Given the description of an element on the screen output the (x, y) to click on. 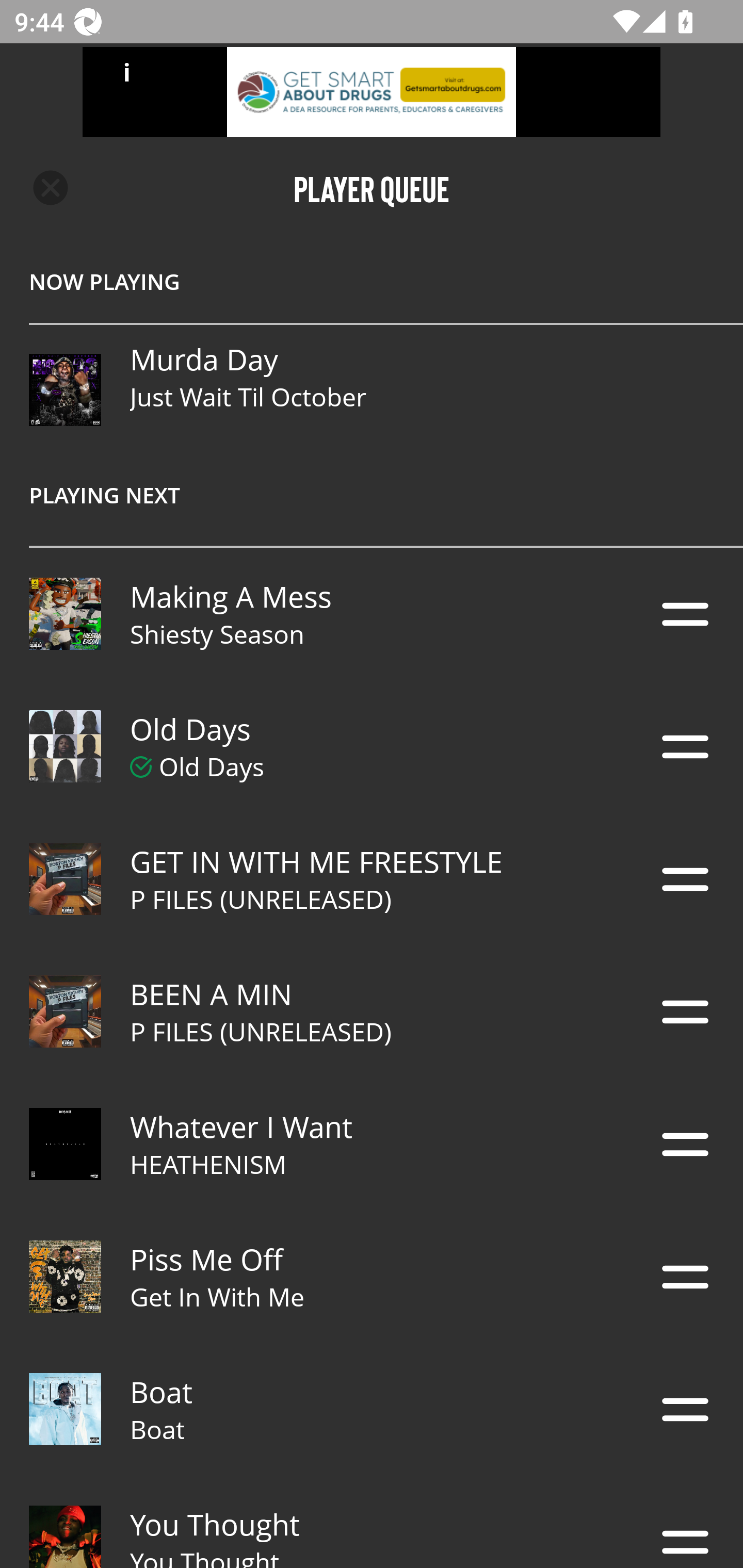
Navigate up (50, 187)
Description Whatever I Want HEATHENISM Description (371, 1144)
Description Piss Me Off Get In With Me Description (371, 1276)
Description Boat Boat Description (371, 1409)
Description You Thought You Thought Description (371, 1521)
